Given the description of an element on the screen output the (x, y) to click on. 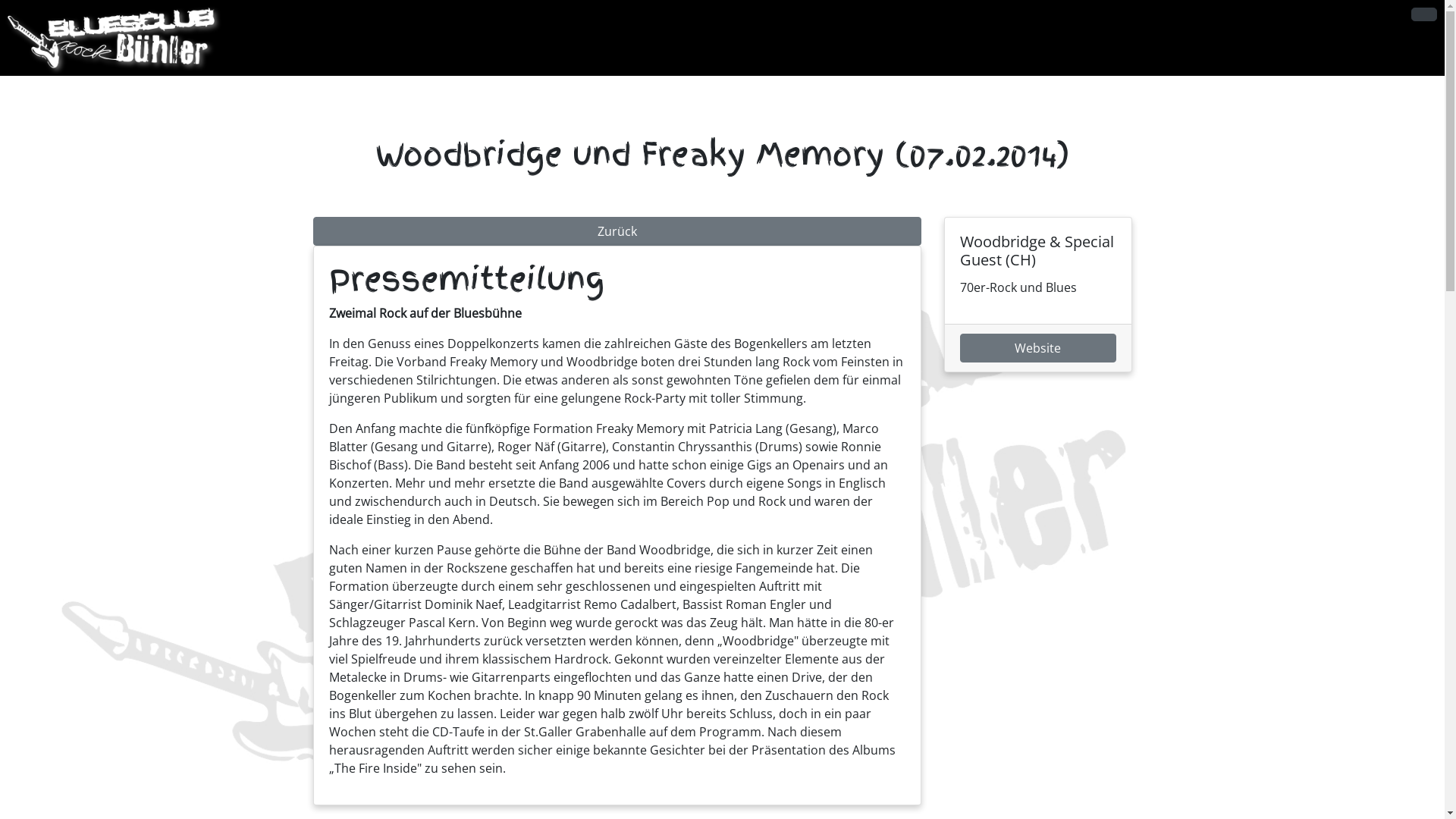
Website Element type: text (1038, 347)
